Given the description of an element on the screen output the (x, y) to click on. 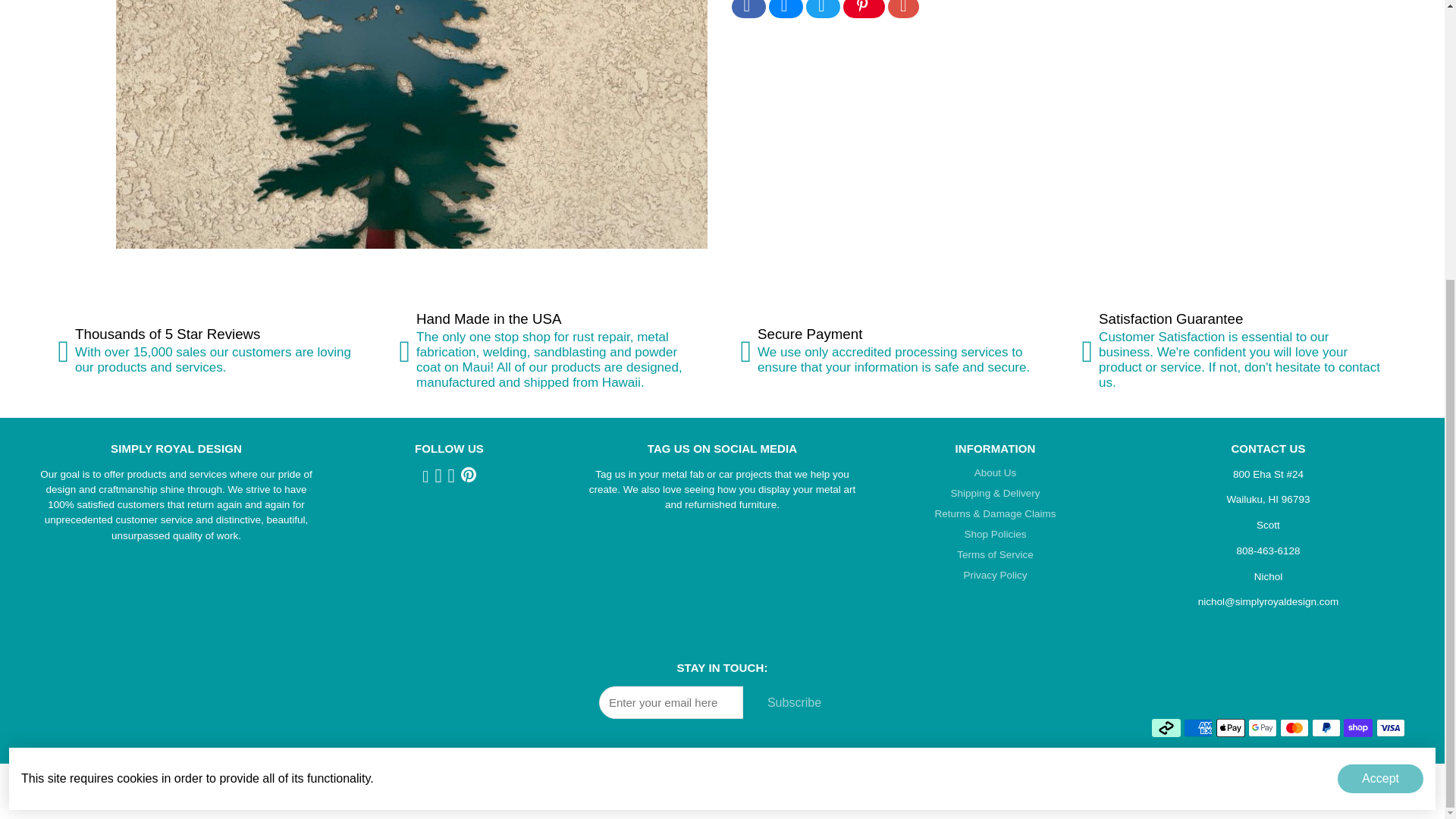
Apple Pay (1229, 728)
Mastercard (1293, 728)
Visa (1390, 728)
Shop Pay (1358, 728)
PayPal (1325, 728)
American Express (1197, 728)
Google Pay (1261, 728)
Afterpay (1165, 728)
